Given the description of an element on the screen output the (x, y) to click on. 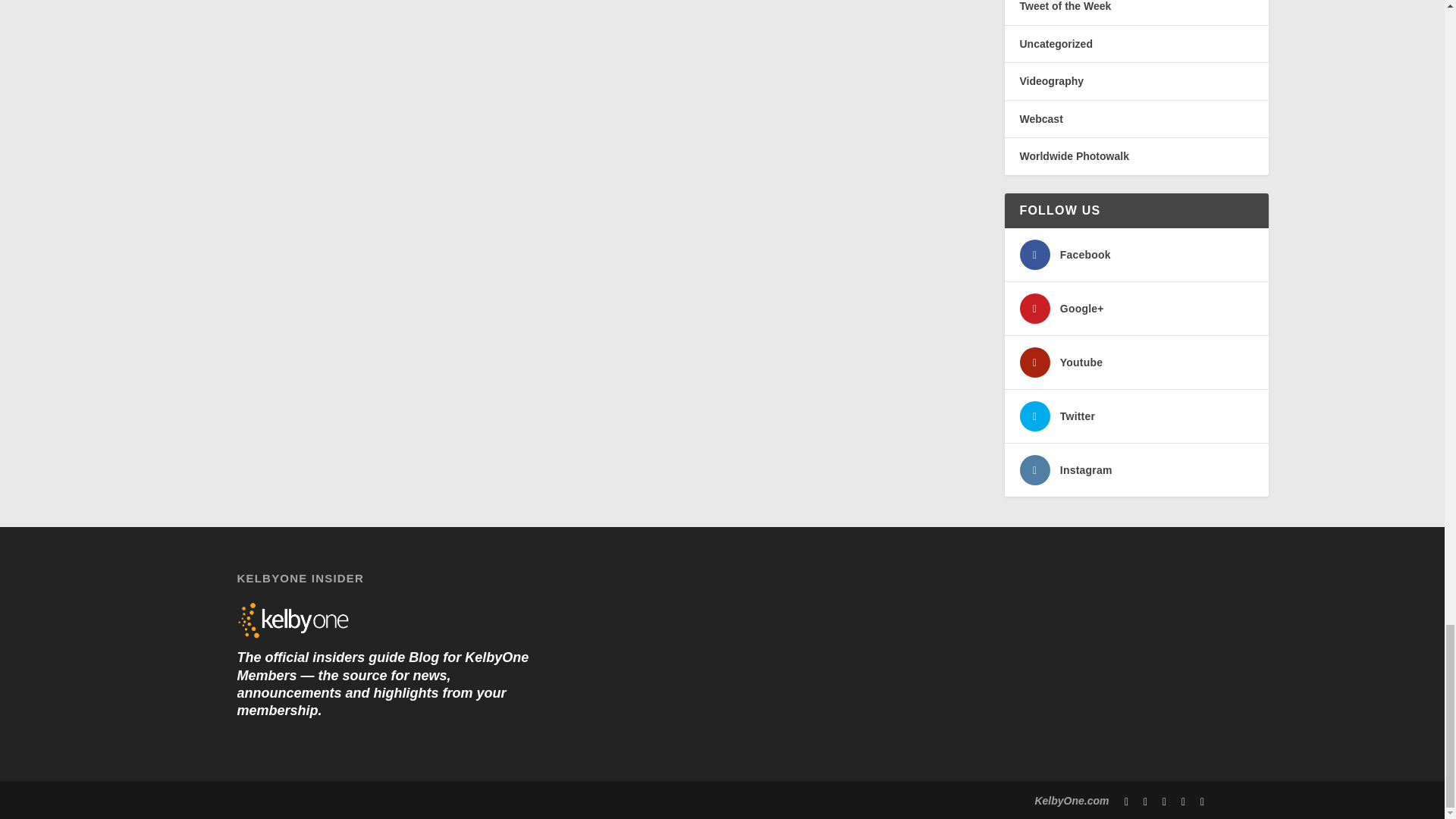
Premium WordPress Themes (331, 800)
